Given the description of an element on the screen output the (x, y) to click on. 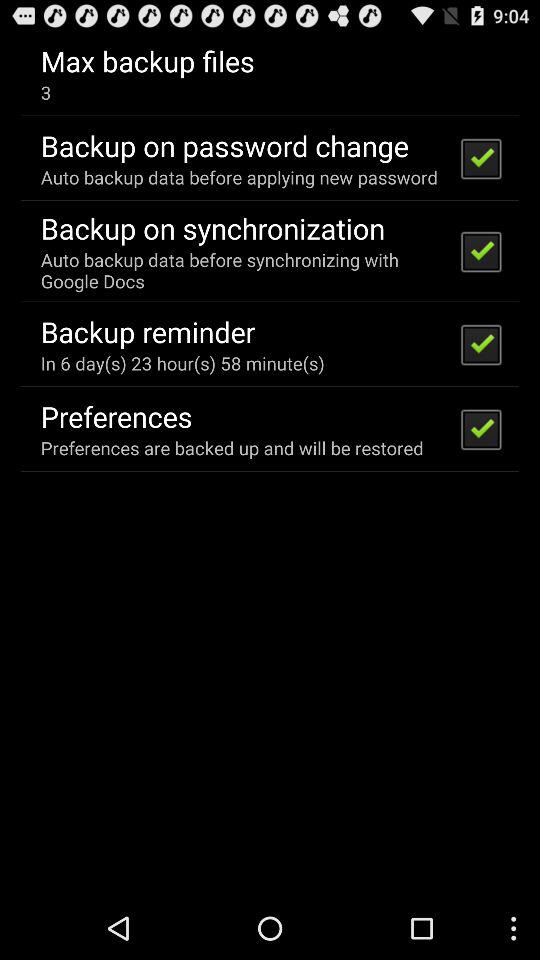
launch the app above the in 6 day (147, 331)
